Given the description of an element on the screen output the (x, y) to click on. 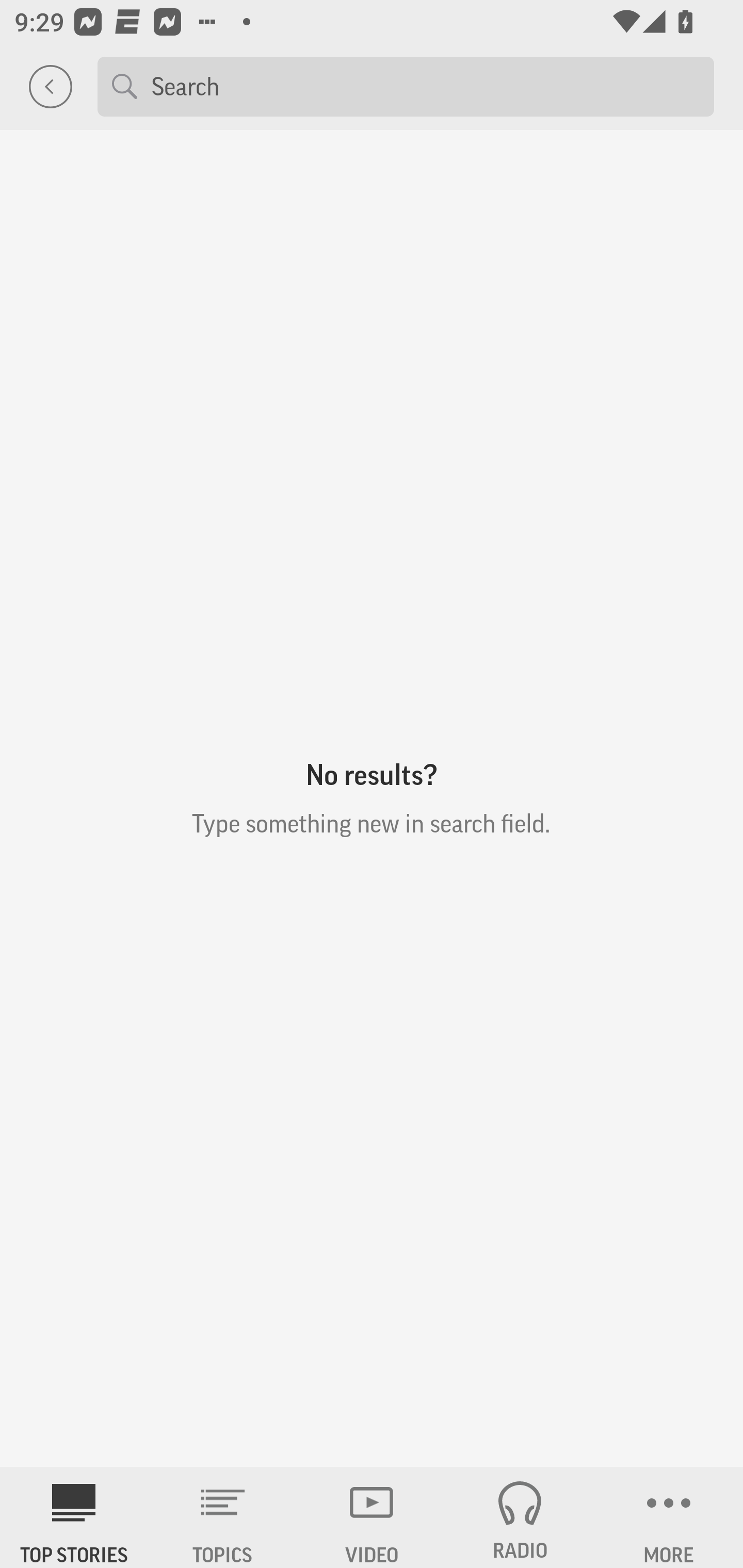
Search (425, 86)
AP News TOP STORIES (74, 1517)
TOPICS (222, 1517)
VIDEO (371, 1517)
RADIO (519, 1517)
MORE (668, 1517)
